Given the description of an element on the screen output the (x, y) to click on. 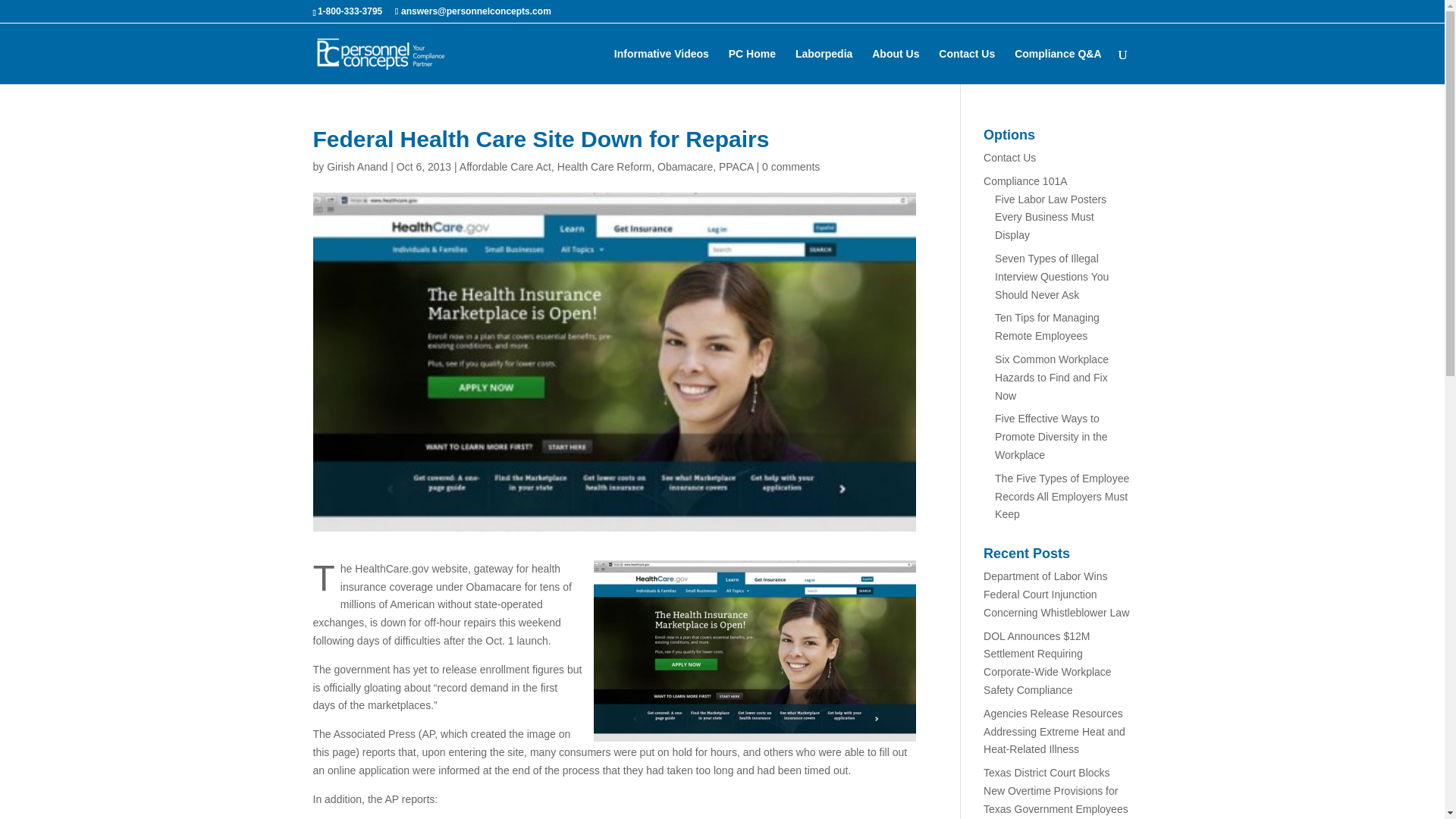
PC Home (752, 66)
Compliance 101A (1025, 181)
Ten Tips for Managing Remote Employees (1046, 327)
Contact Us (966, 66)
About Us (895, 66)
PPACA (736, 166)
Laborpedia (822, 66)
Contact Us (1009, 157)
Five Labor Law Posters Every Business Must Display (1050, 217)
Informative Videos (661, 66)
1-800-333-3795 (349, 10)
